Given the description of an element on the screen output the (x, y) to click on. 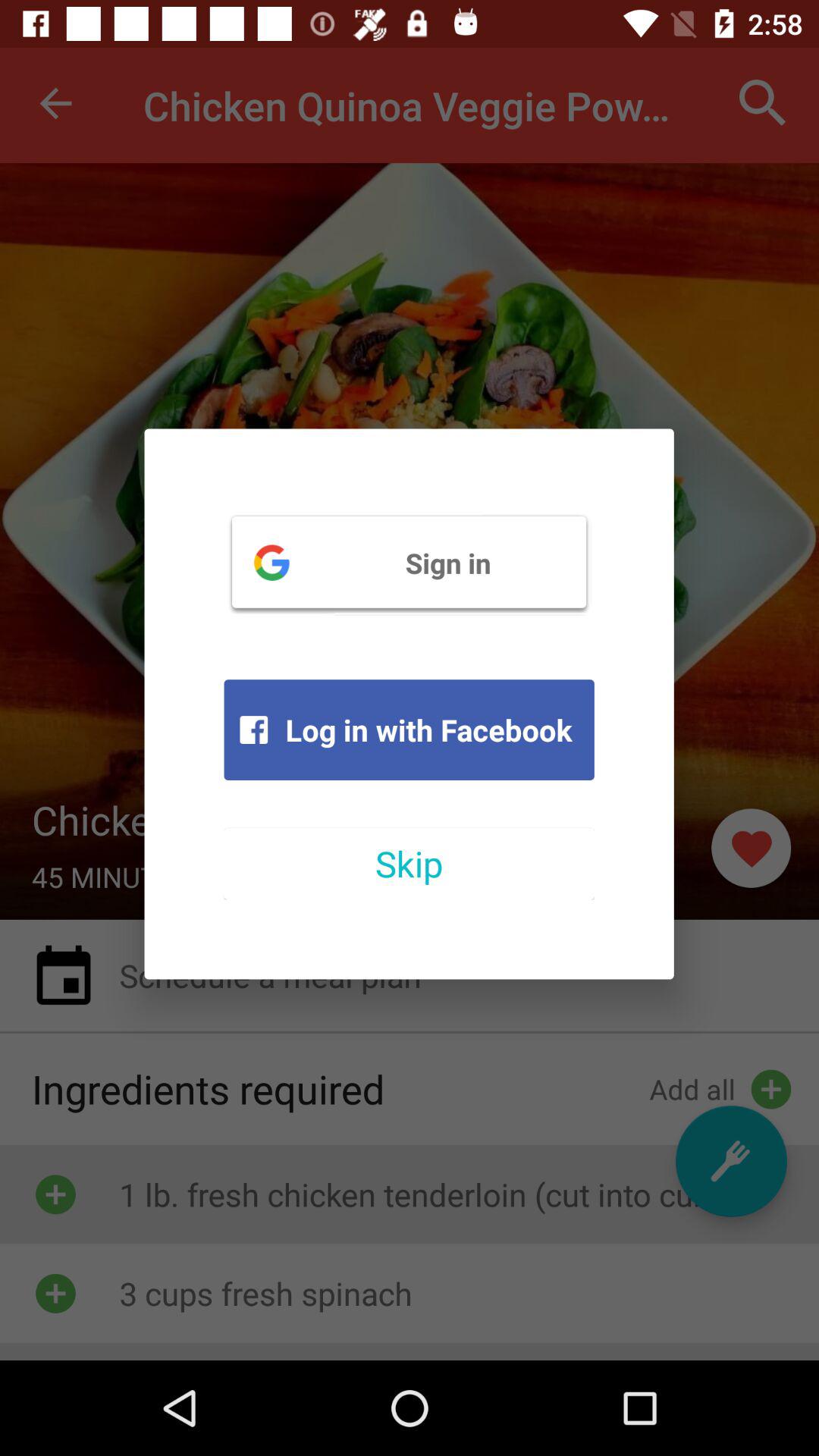
swipe to the sign in item (409, 561)
